Given the description of an element on the screen output the (x, y) to click on. 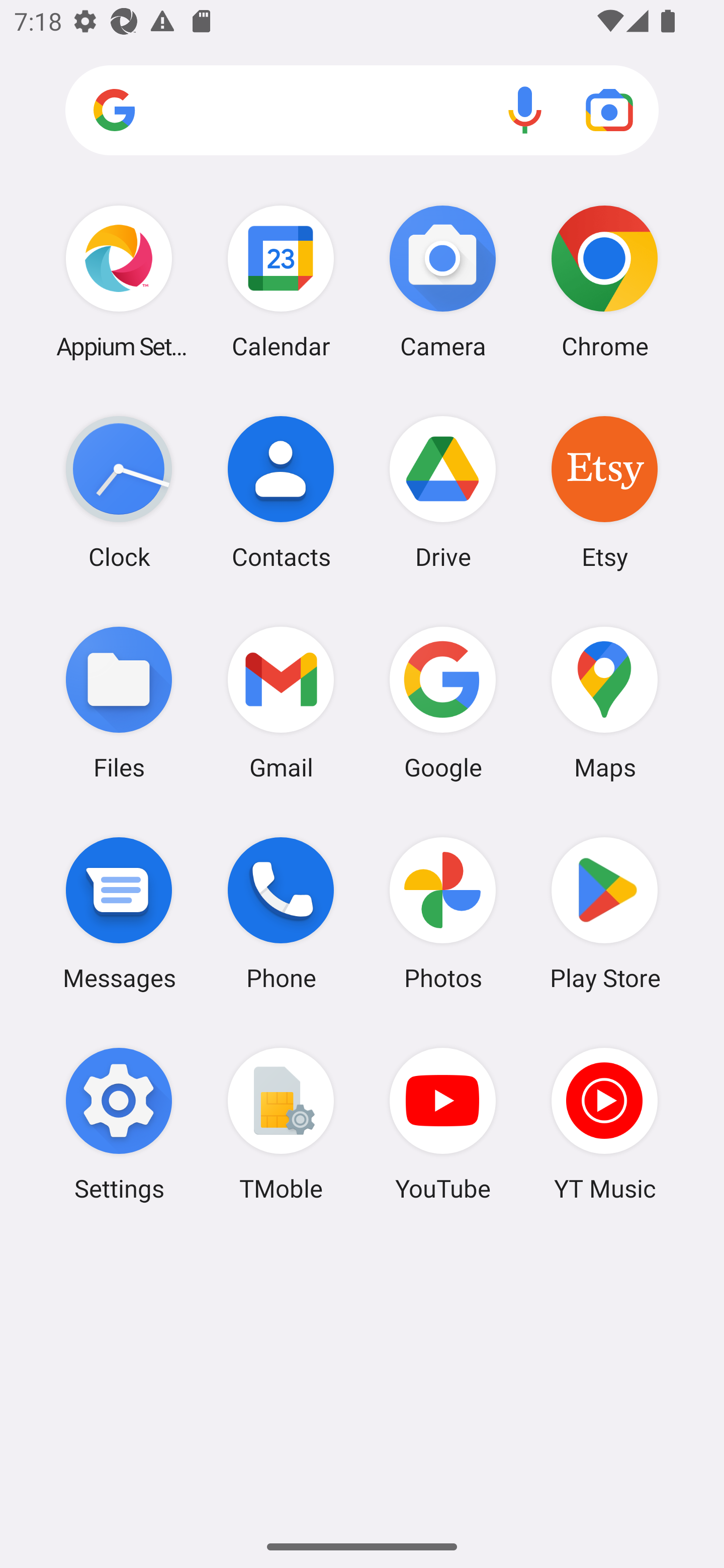
Search apps, web and more (361, 110)
Voice search (524, 109)
Google Lens (608, 109)
Appium Settings (118, 281)
Calendar (280, 281)
Camera (443, 281)
Chrome (604, 281)
Clock (118, 492)
Contacts (280, 492)
Drive (443, 492)
Etsy (604, 492)
Files (118, 702)
Gmail (280, 702)
Google (443, 702)
Maps (604, 702)
Messages (118, 913)
Phone (280, 913)
Photos (443, 913)
Play Store (604, 913)
Settings (118, 1124)
TMoble (280, 1124)
YouTube (443, 1124)
YT Music (604, 1124)
